Given the description of an element on the screen output the (x, y) to click on. 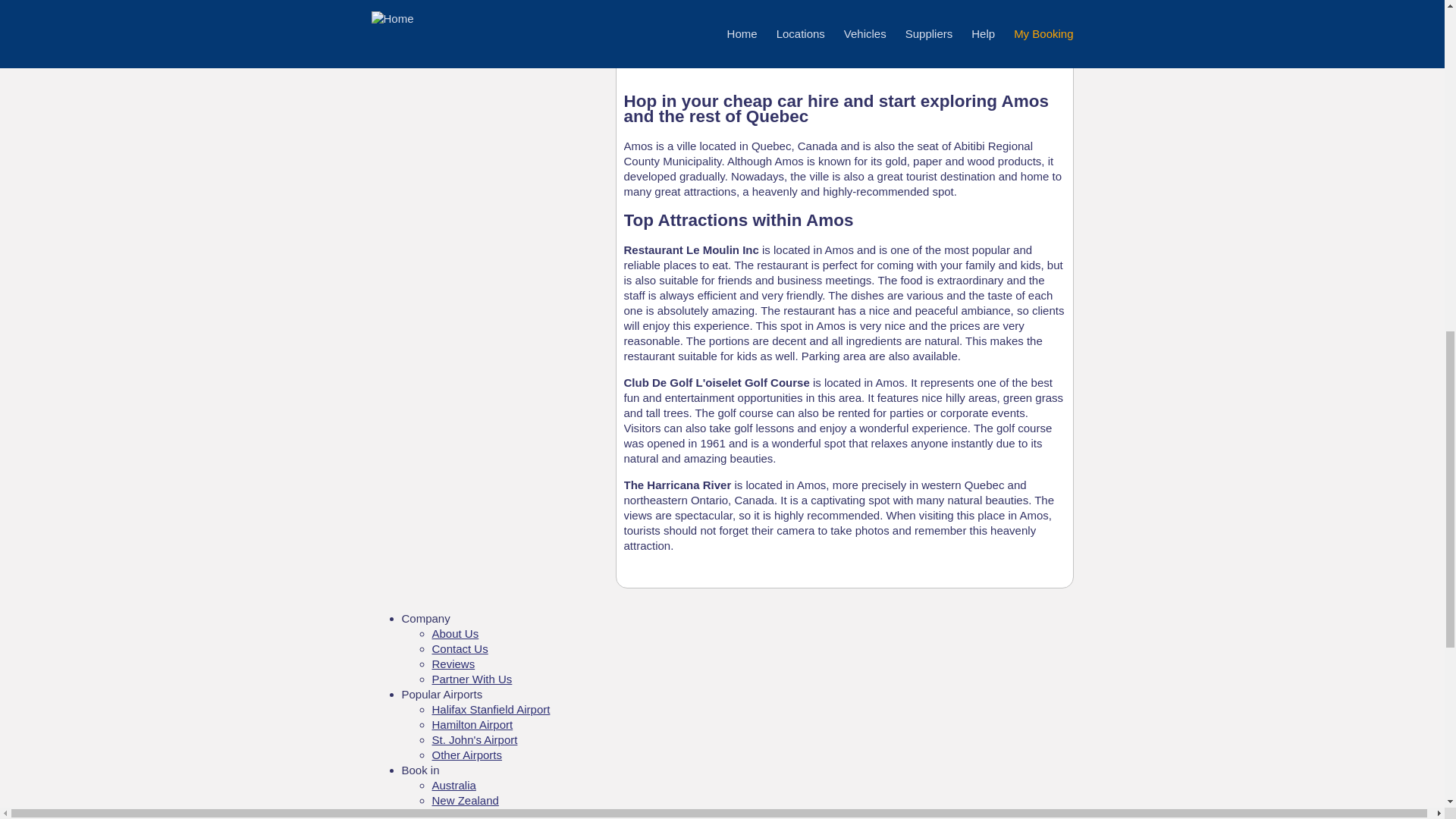
Pointe-Aux-Tremble (460, 38)
Gatineau (432, 22)
Alma (422, 7)
